Given the description of an element on the screen output the (x, y) to click on. 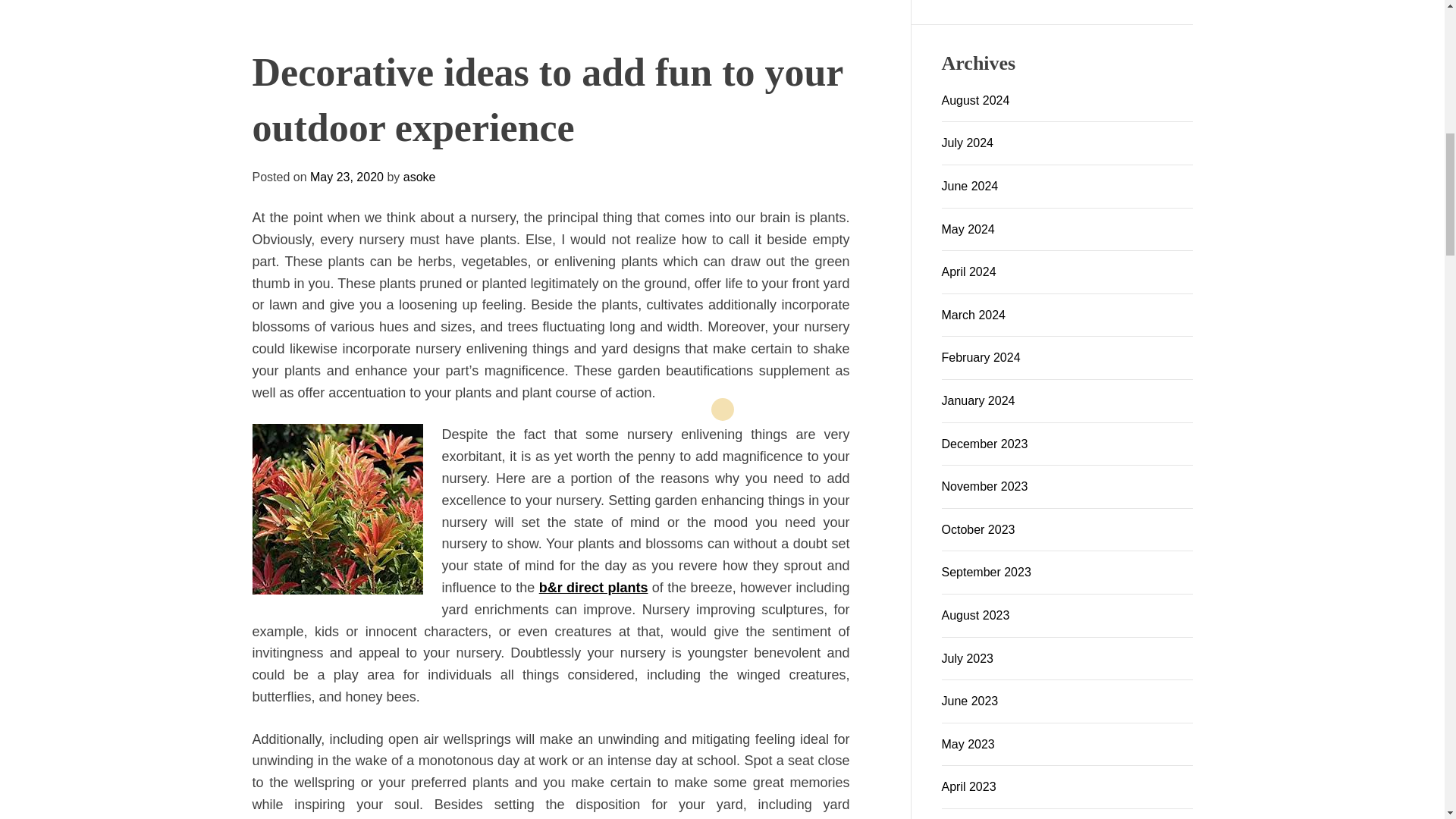
August 2024 (976, 100)
July 2024 (968, 142)
asoke (325, 541)
asoke (601, 553)
asoke (601, 553)
